Given the description of an element on the screen output the (x, y) to click on. 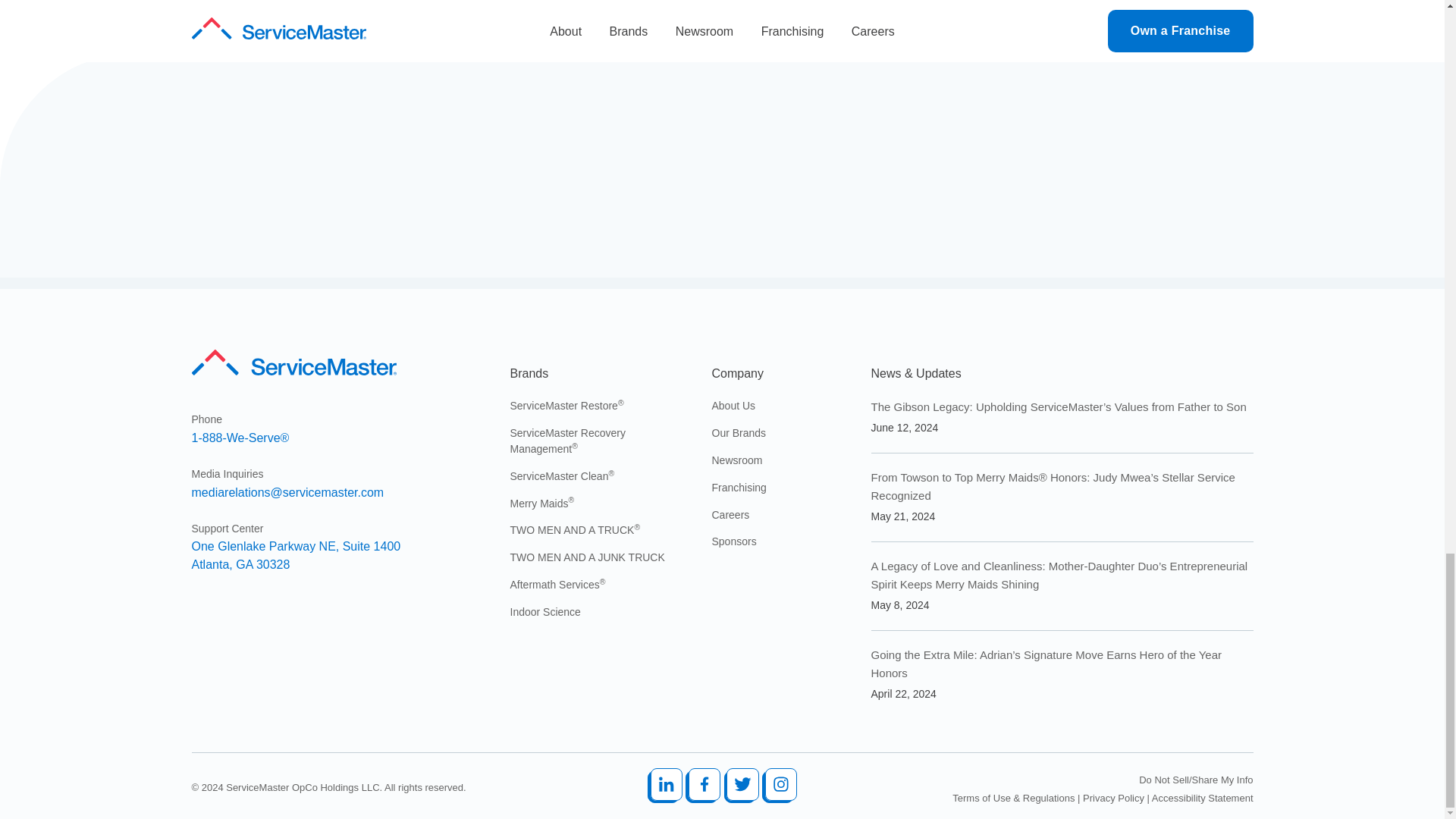
Link to homepage (295, 554)
TWO MEN AND A JUNK TRUCK (293, 365)
